Given the description of an element on the screen output the (x, y) to click on. 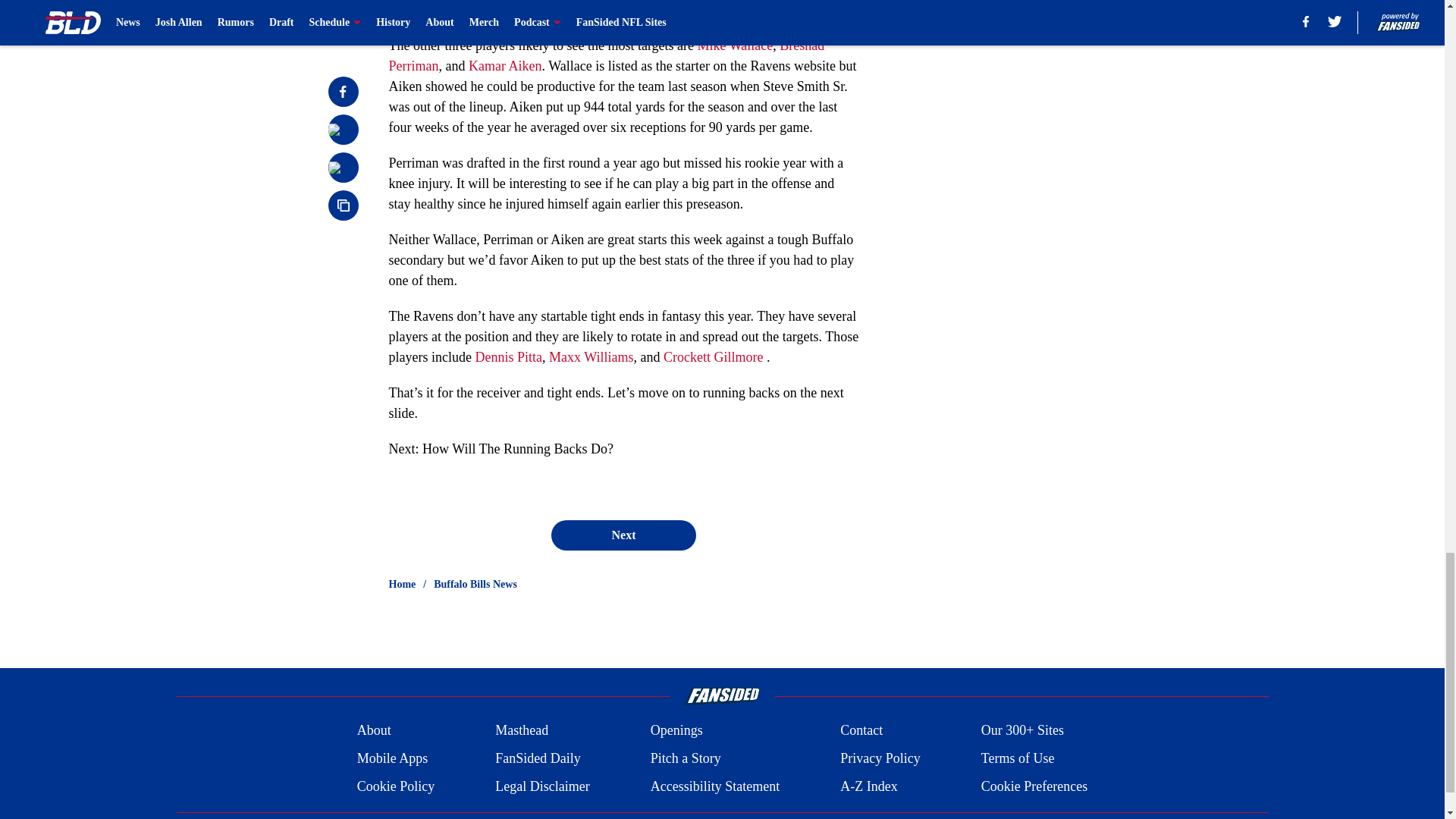
Mike Wallace (735, 45)
Kamar Aiken (504, 65)
Breshad Perriman (606, 55)
Dennis Pitta (507, 356)
Crockett Gillmore (712, 356)
Next (622, 535)
Maxx Williams (590, 356)
